Given the description of an element on the screen output the (x, y) to click on. 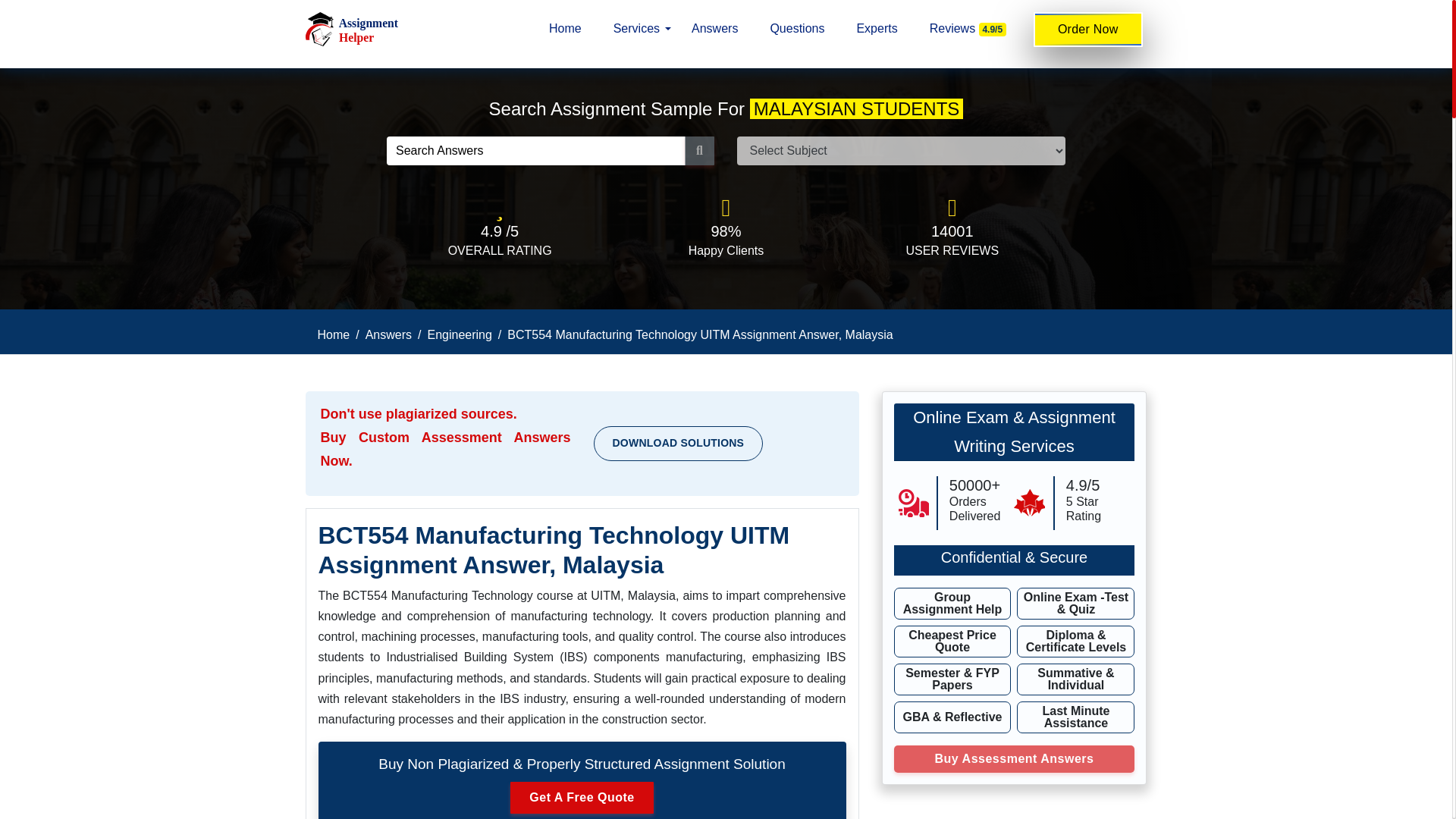
Home (333, 334)
Questions (796, 28)
Home (564, 28)
Engineering (459, 334)
Answers (388, 334)
Services (636, 28)
Experts (876, 28)
Answers (714, 28)
Order Now (1087, 29)
Get A Free Quote (581, 798)
